Given the description of an element on the screen output the (x, y) to click on. 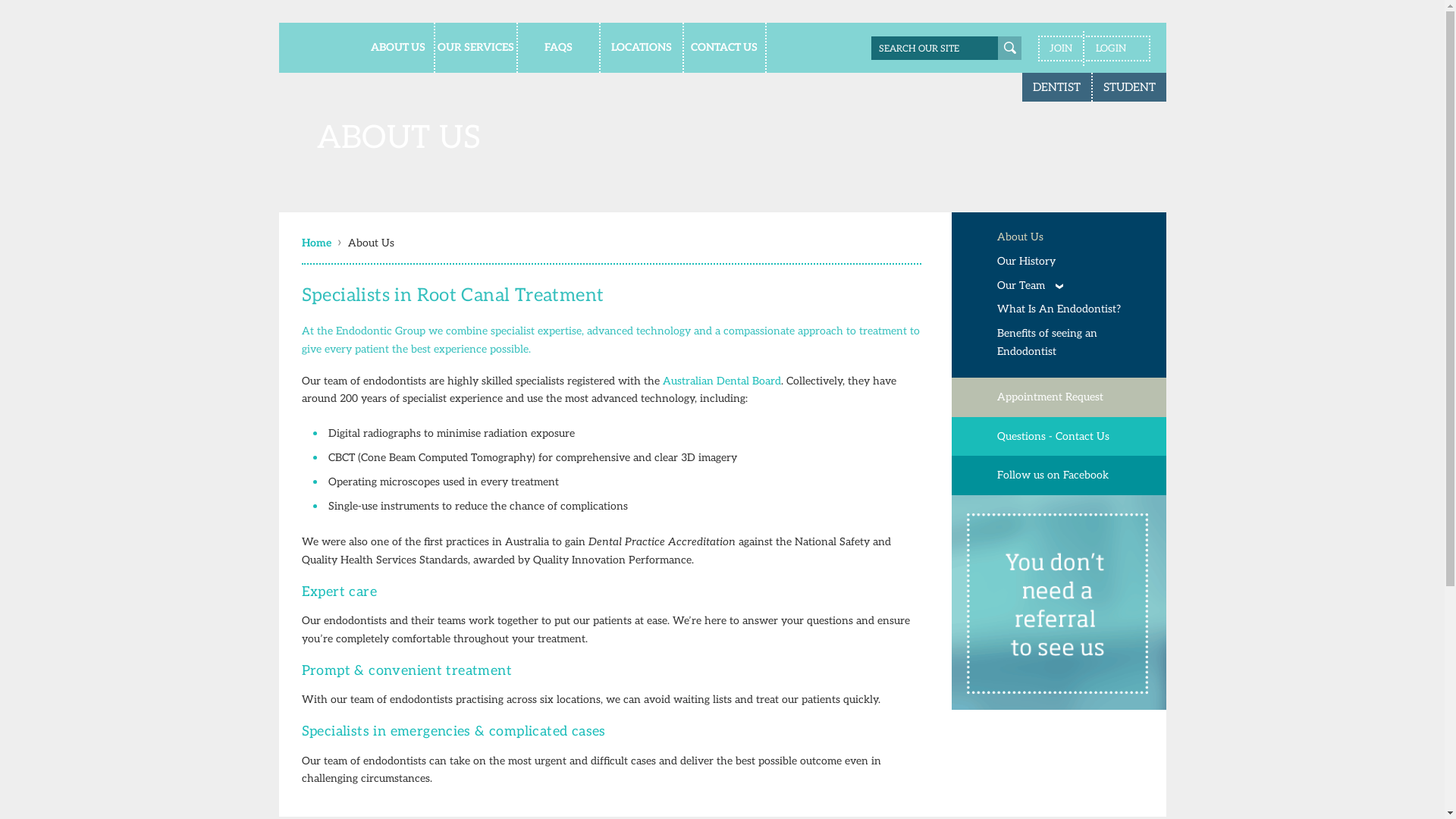
DENTIST Element type: text (1057, 86)
Benefits of seeing an Endodontist Element type: text (1072, 342)
CONTACT US Element type: text (725, 47)
Australian Dental Board Element type: text (721, 380)
ABOUT US Element type: text (392, 47)
About Us Element type: text (1072, 237)
What Is An Endodontist? Element type: text (1072, 309)
About Us Element type: text (372, 242)
LOCATIONS Element type: text (641, 47)
Follow us on Facebook Element type: text (1058, 475)
Questions - Contact Us Element type: text (1058, 436)
OUR SERVICES Element type: text (476, 47)
Appointment Request Element type: text (1058, 397)
FAQS Element type: text (558, 47)
Our History Element type: text (1072, 261)
Our Team Element type: text (1072, 285)
Home Element type: text (319, 242)
JOIN Element type: text (1059, 48)
LOGIN Element type: text (1117, 48)
STUDENT Element type: text (1128, 86)
